Given the description of an element on the screen output the (x, y) to click on. 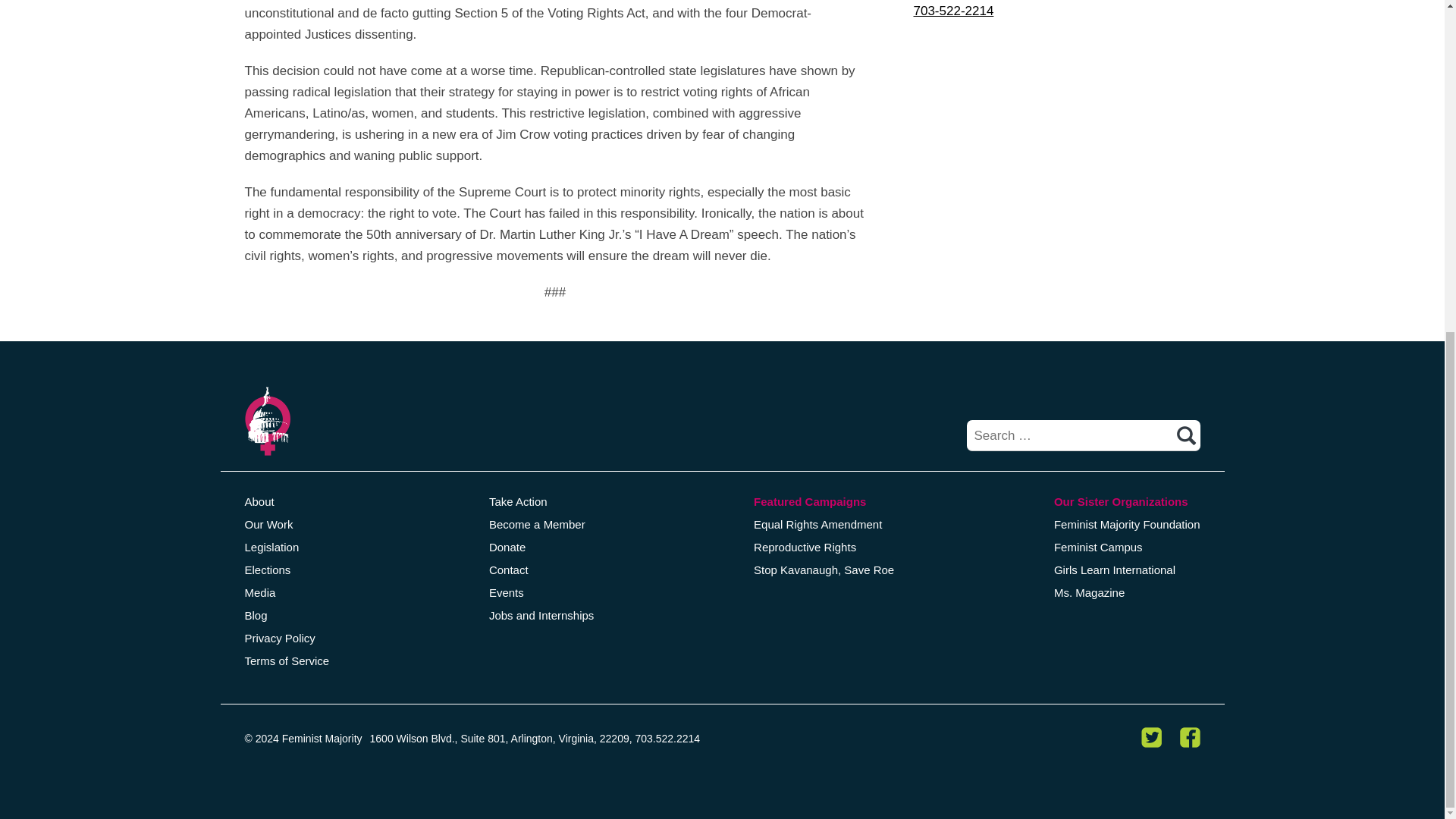
Become a Member (537, 522)
Our Work (268, 522)
Search (1186, 435)
Reproductive Rights (805, 545)
Search (1186, 435)
Jobs and Internships (541, 614)
Terms of Service (286, 659)
Search for: (1082, 435)
About (258, 500)
703-522-2214 (952, 11)
